Given the description of an element on the screen output the (x, y) to click on. 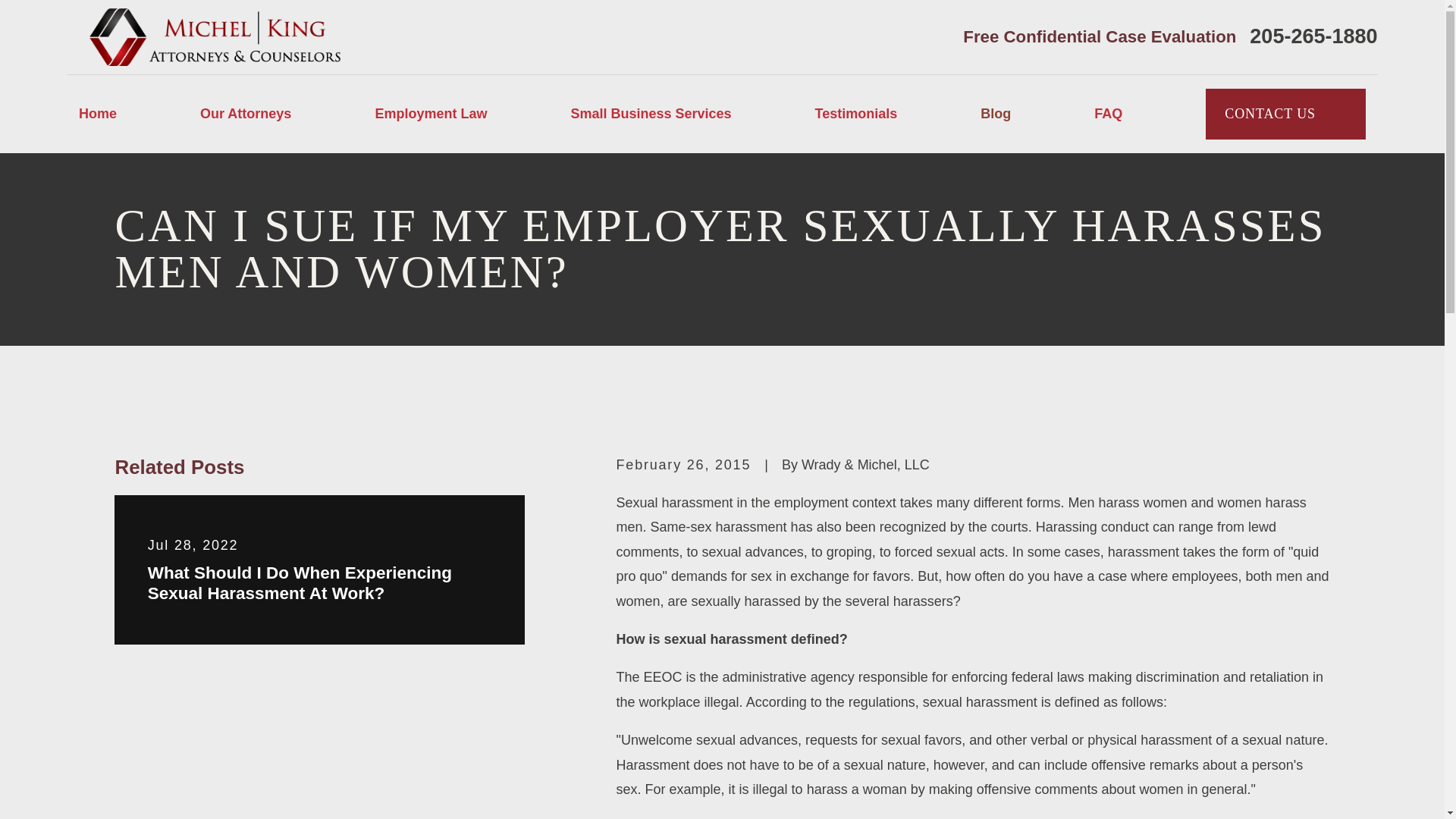
Small Business Services (650, 114)
Our Attorneys (245, 114)
205-265-1880 (1313, 36)
Employment Law (430, 114)
Home (217, 37)
